Given the description of an element on the screen output the (x, y) to click on. 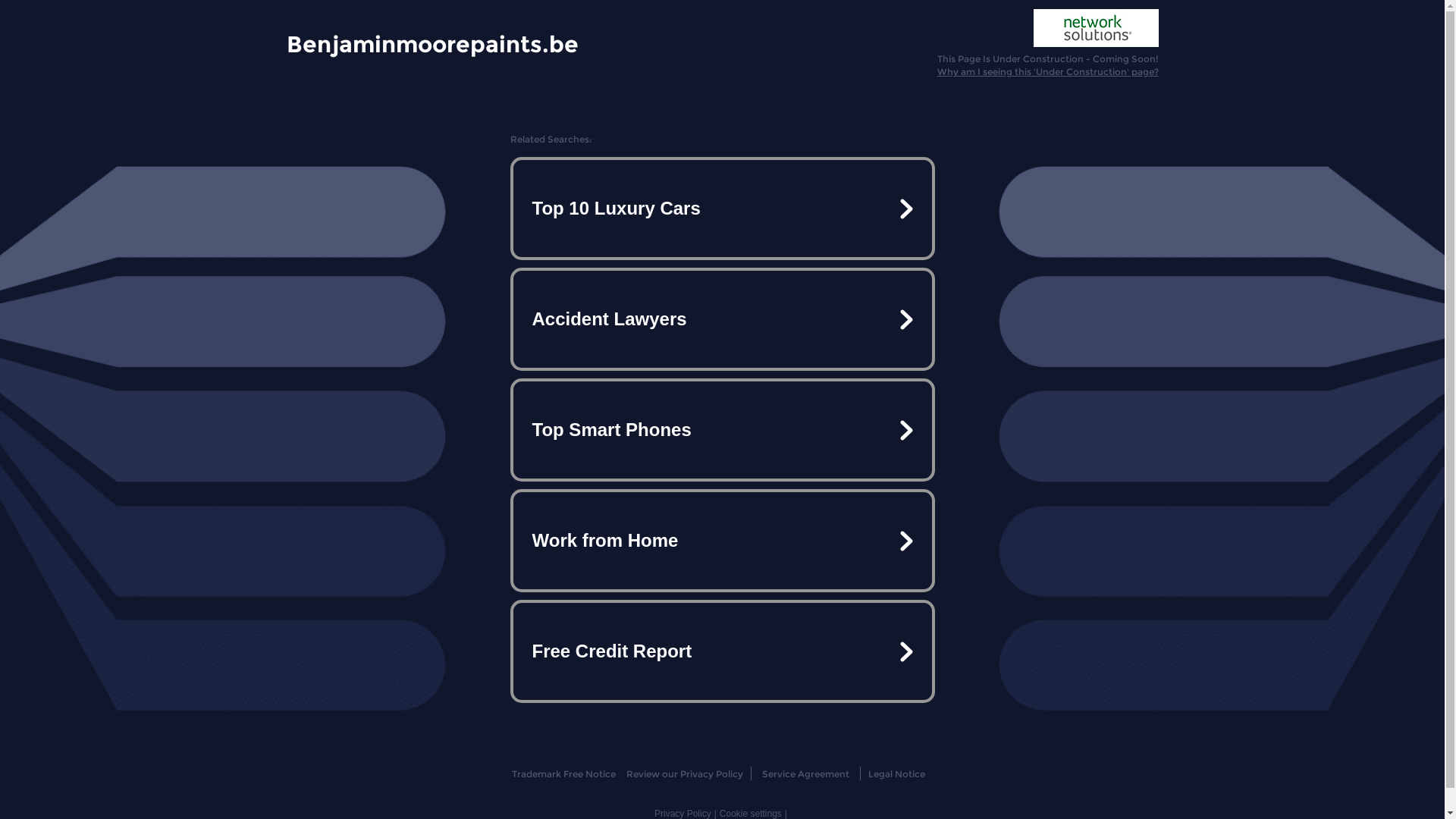
Why am I seeing this 'Under Construction' page? Element type: text (1047, 71)
Top Smart Phones Element type: text (721, 429)
Trademark Free Notice Element type: text (563, 773)
Service Agreement Element type: text (805, 773)
Top 10 Luxury Cars Element type: text (721, 208)
Accident Lawyers Element type: text (721, 318)
Benjaminmoorepaints.be Element type: text (432, 43)
Legal Notice Element type: text (896, 773)
Work from Home Element type: text (721, 540)
Review our Privacy Policy Element type: text (684, 773)
Free Credit Report Element type: text (721, 650)
